Given the description of an element on the screen output the (x, y) to click on. 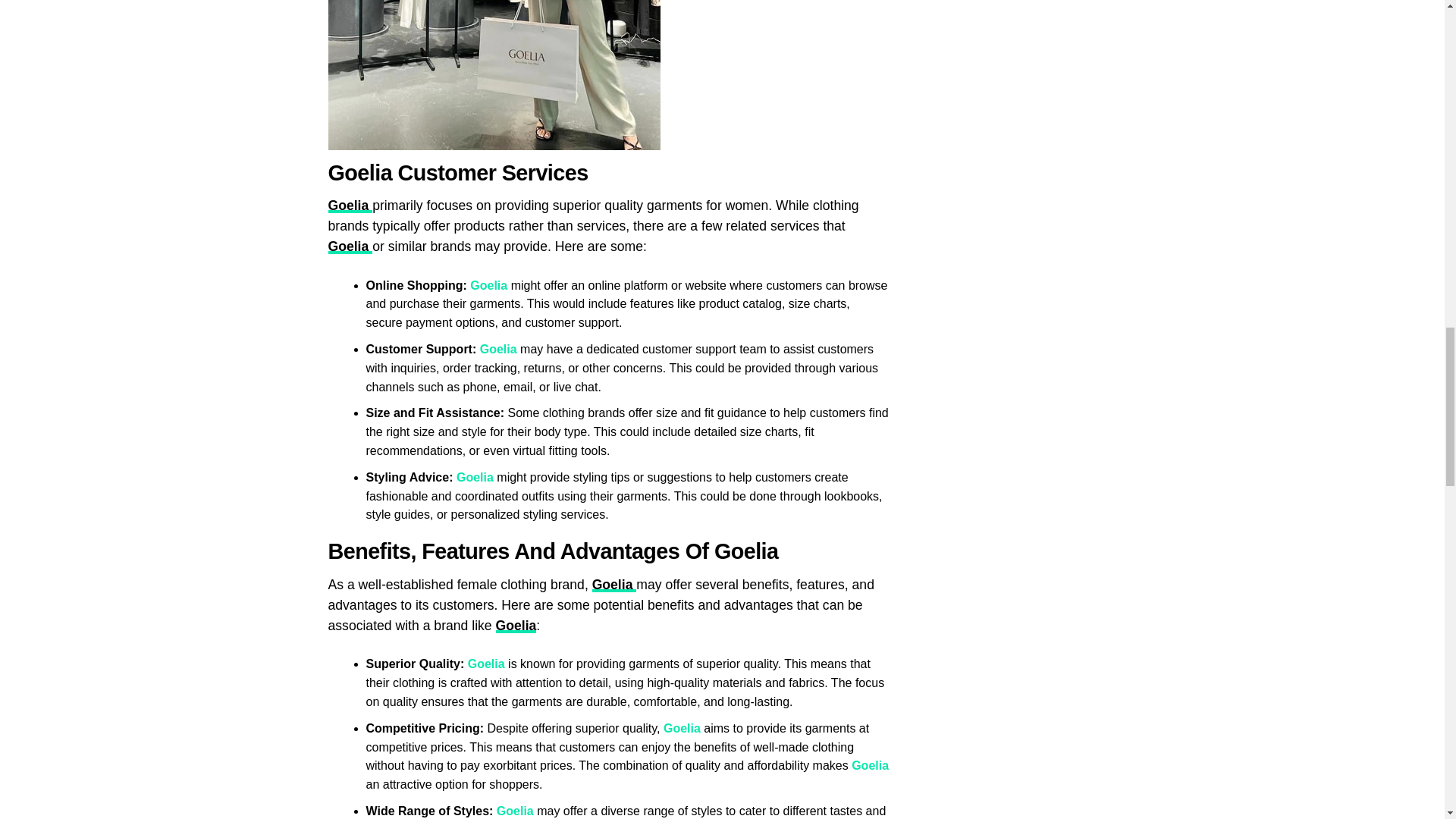
Goelia (869, 765)
Goelia (359, 172)
Goelia (614, 584)
Goelia (746, 550)
Goelia (349, 246)
Goelia (490, 285)
Goelia (498, 349)
Goelia (515, 810)
Goelia (516, 625)
Goelia (349, 205)
Goelia (476, 477)
Goelia (486, 663)
Goelia (683, 727)
